Given the description of an element on the screen output the (x, y) to click on. 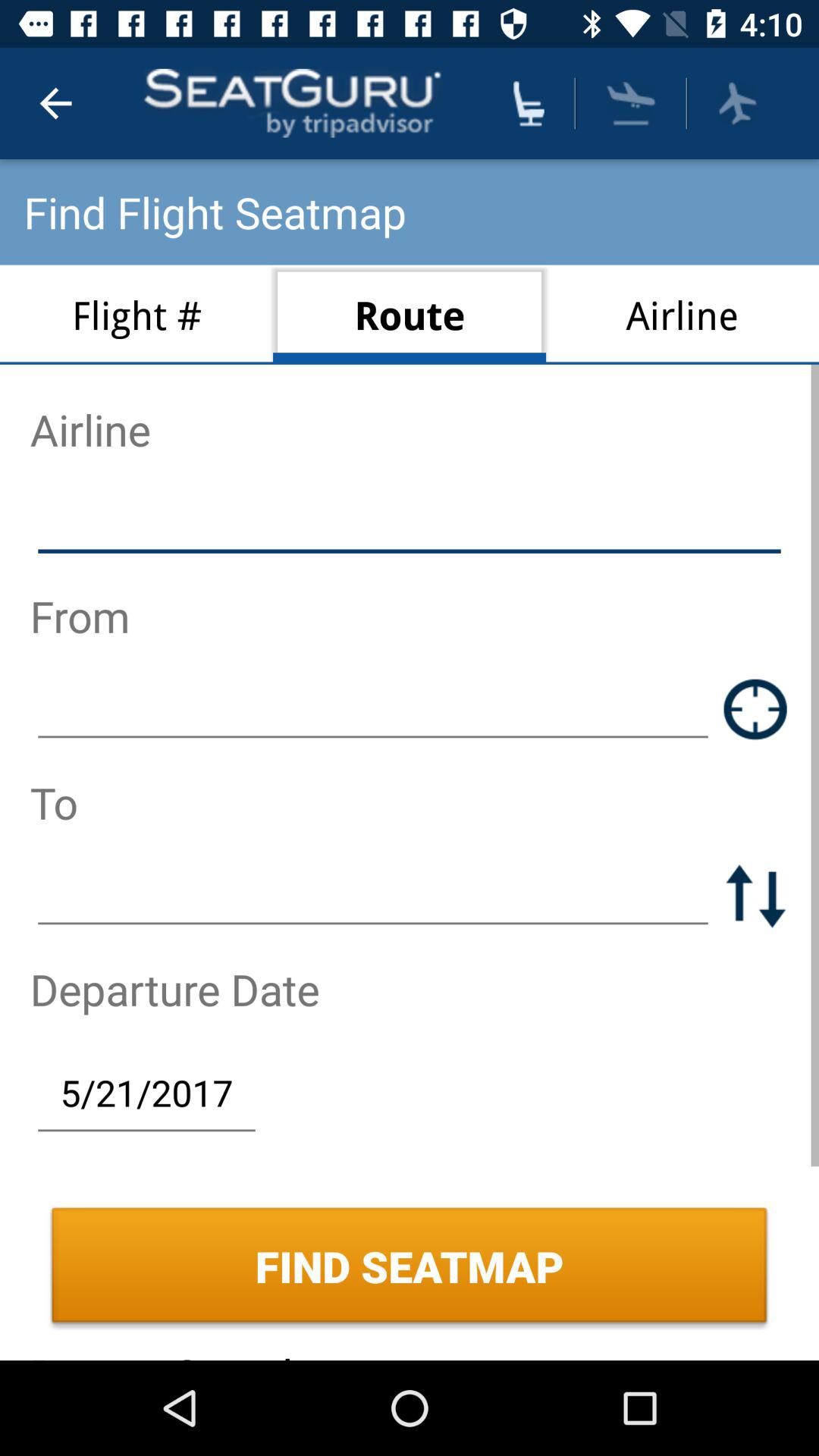
choose item below the find flight seatmap (409, 314)
